Given the description of an element on the screen output the (x, y) to click on. 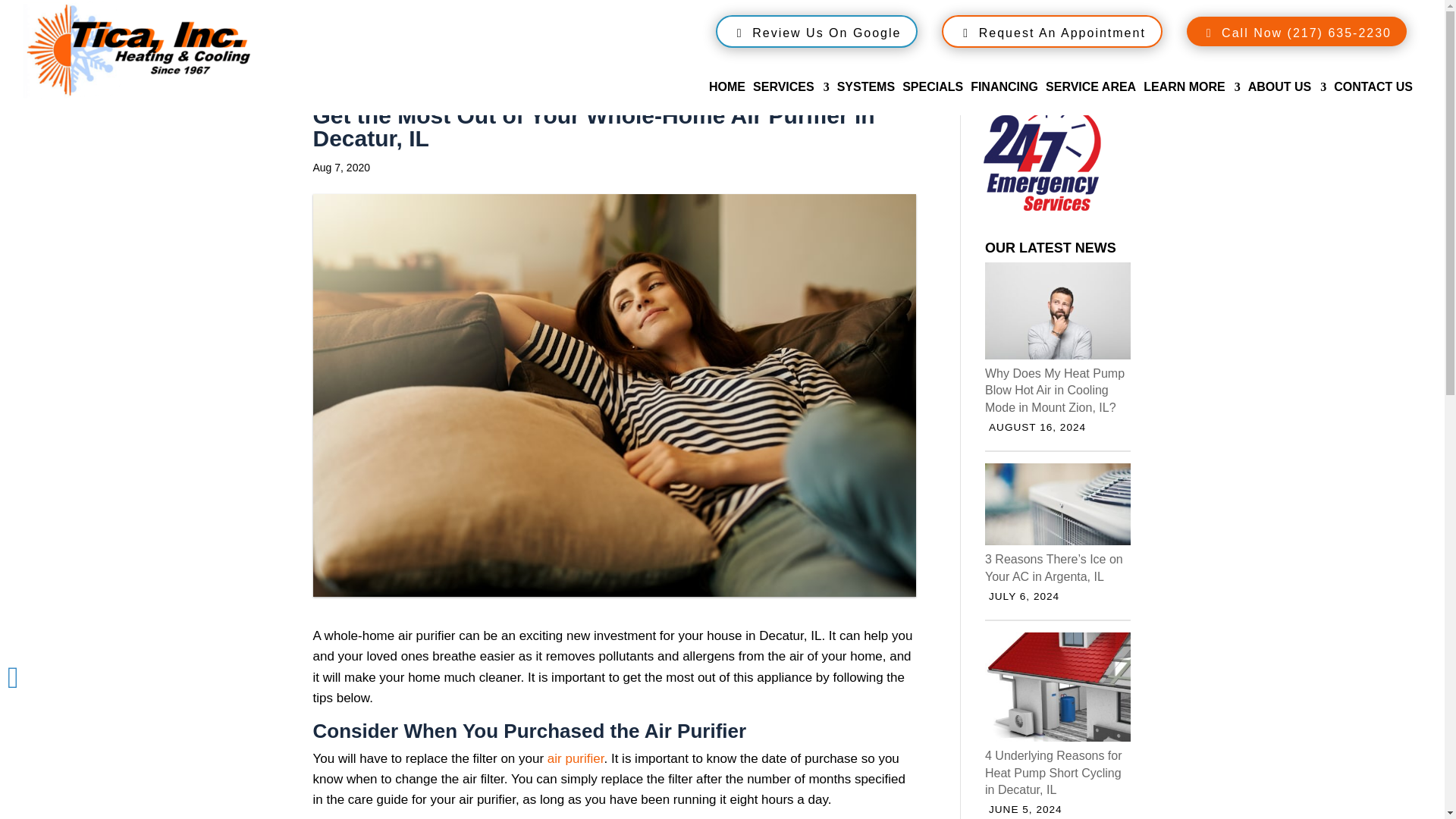
HOME (727, 98)
SERVICES (790, 98)
LEARN MORE (1191, 98)
SYSTEMS (866, 98)
CONTACT US (1372, 98)
SPECIALS (932, 98)
Request An Appointment (1051, 31)
ABOUT US (1286, 98)
Review Us On Google (817, 31)
FINANCING (1004, 98)
